Given the description of an element on the screen output the (x, y) to click on. 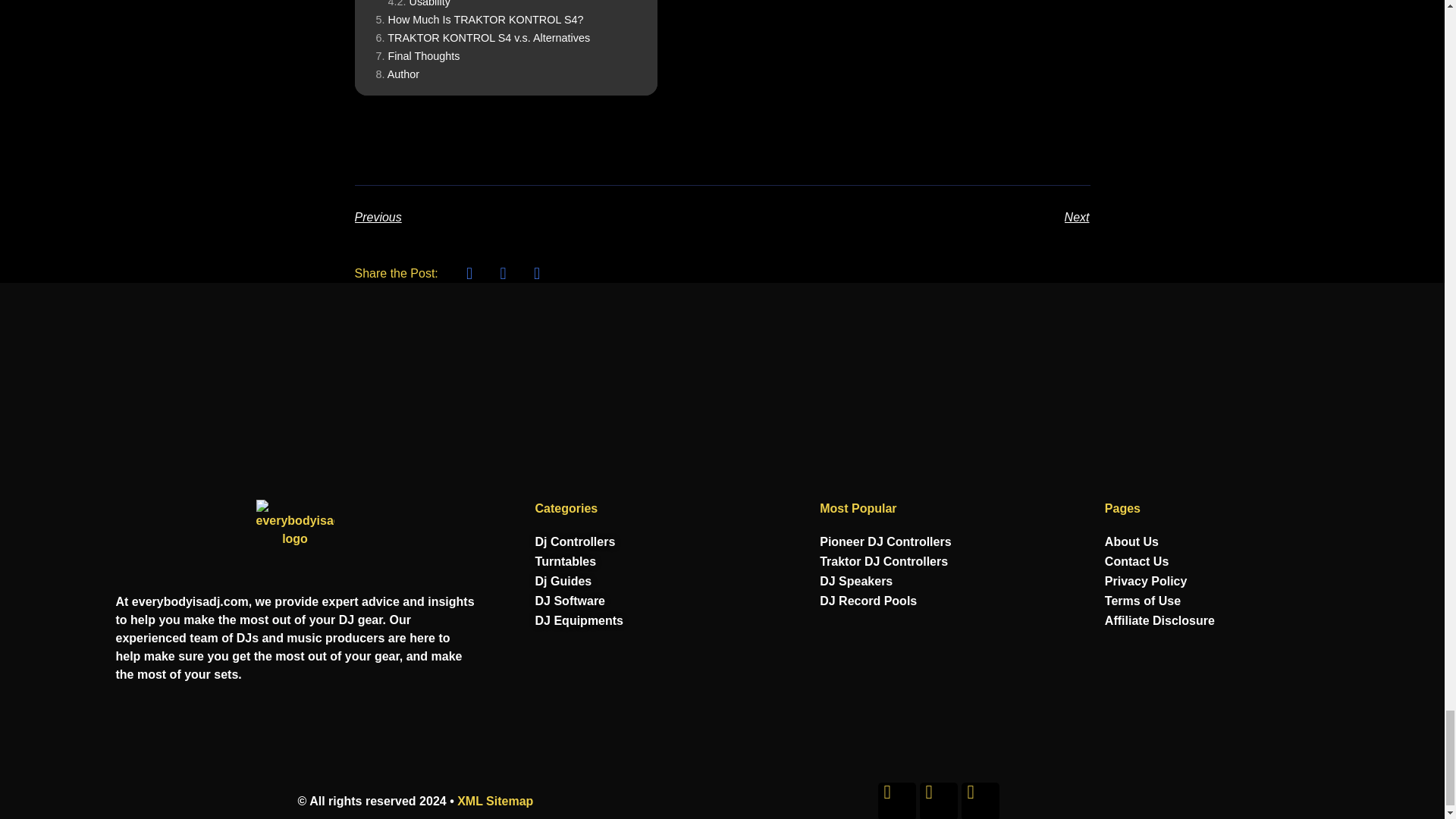
Author (397, 73)
Final Thoughts (417, 55)
Usability (418, 3)
How Much Is TRAKTOR KONTROL S4? (479, 19)
TRAKTOR KONTROL S4 v.s. Alternatives (483, 37)
